Given the description of an element on the screen output the (x, y) to click on. 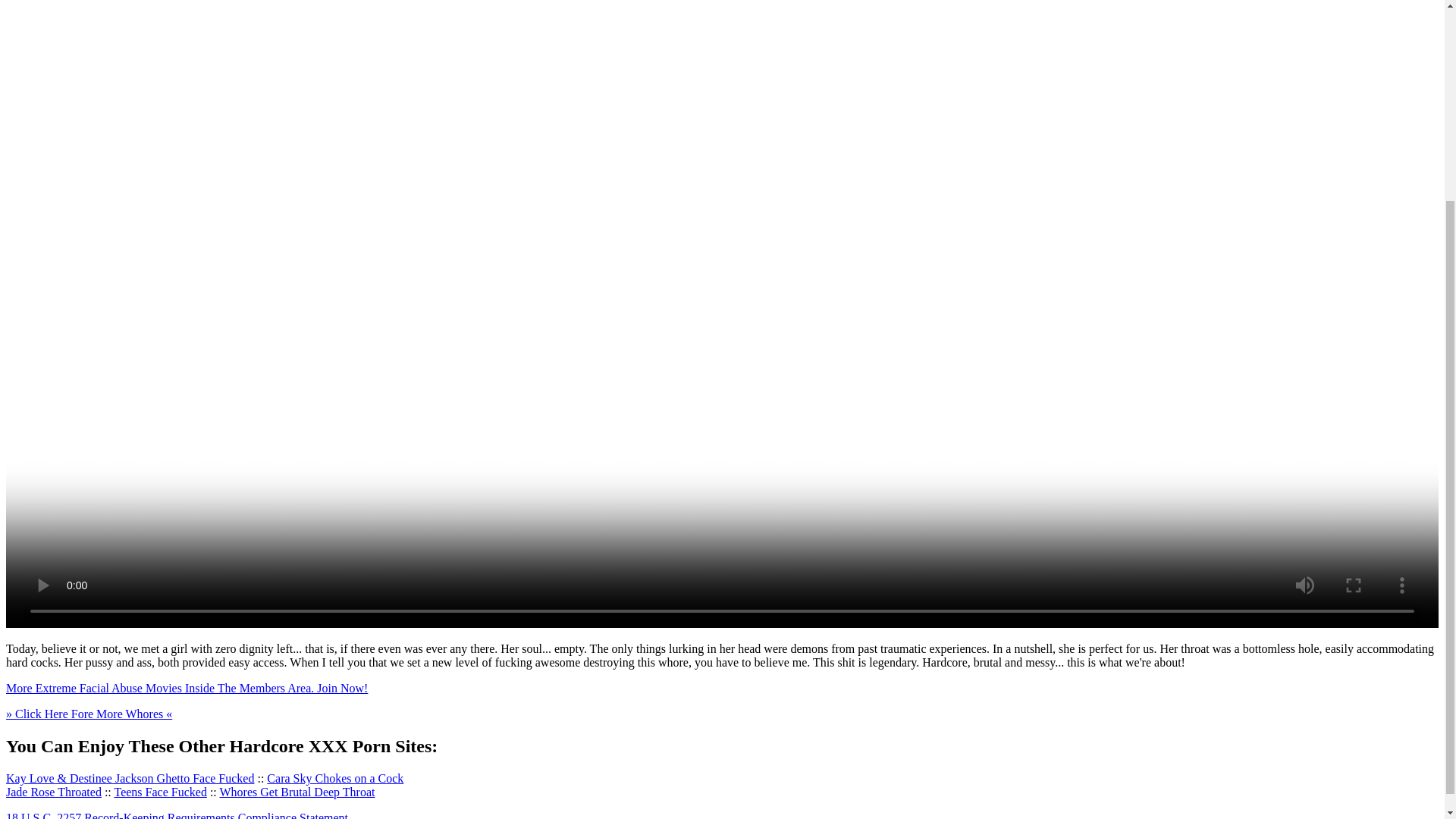
Jade Rose Throated (53, 791)
Teens Face Fucked (159, 791)
Whores Get Brutal Deep Throat (297, 791)
Cara Sky Chokes on a Cock (334, 778)
